Given the description of an element on the screen output the (x, y) to click on. 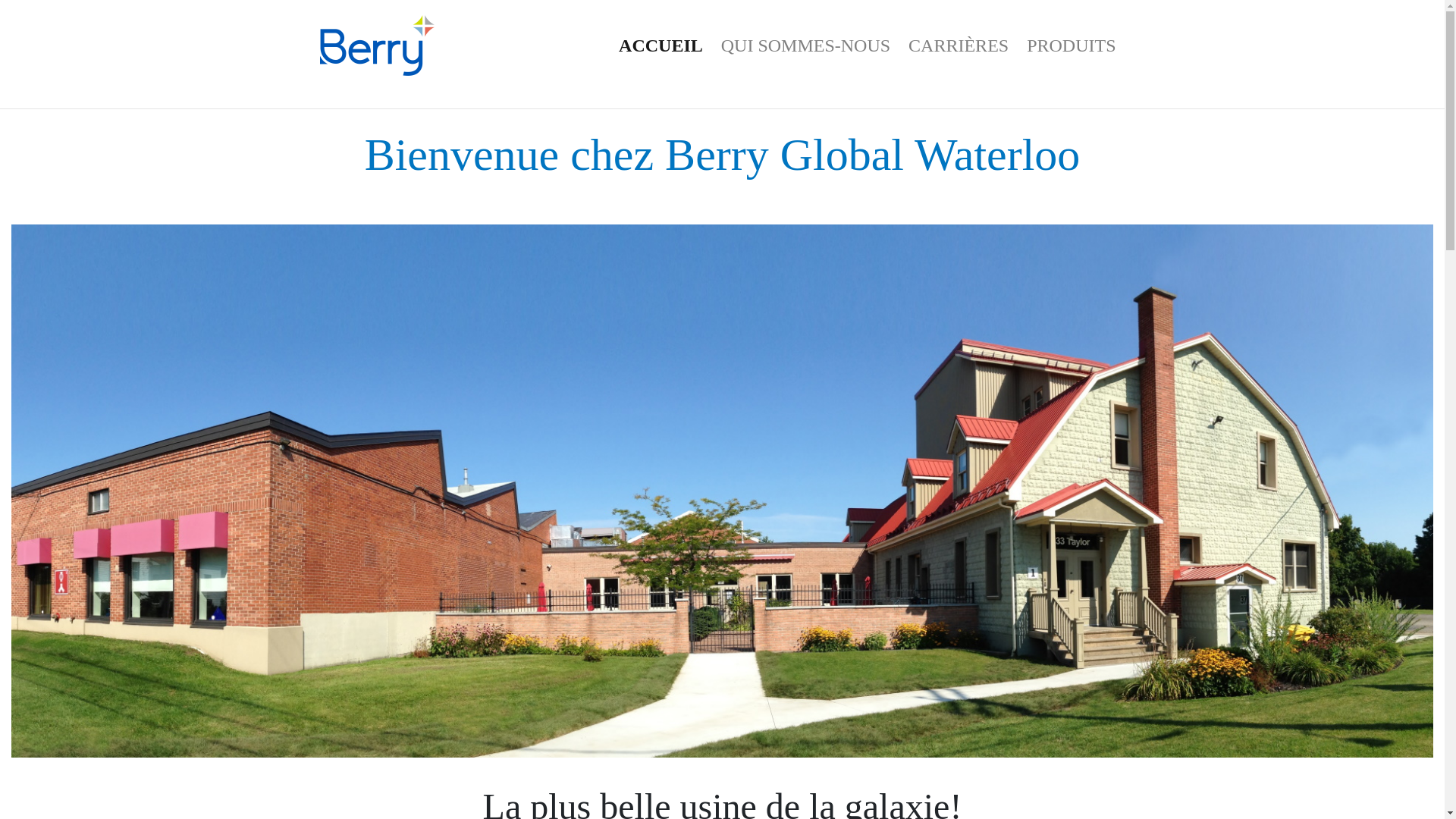
PRODUITS Element type: text (1070, 45)
ACCUEIL Element type: text (660, 45)
QUI SOMMES-NOUS Element type: text (805, 45)
